Given the description of an element on the screen output the (x, y) to click on. 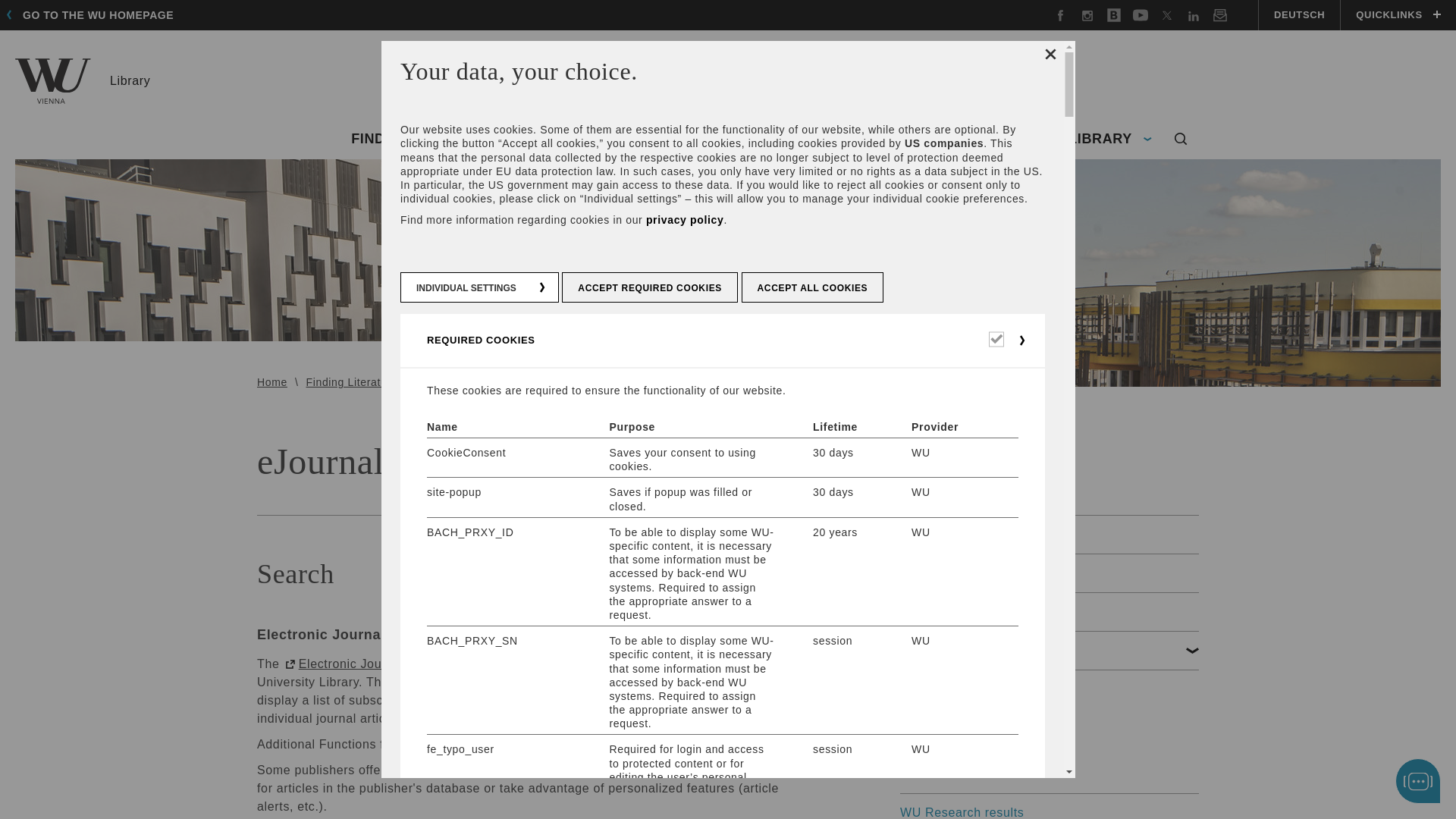
Library (81, 81)
FINDING LITERATURE (437, 140)
Search (1180, 140)
DEUTSCH (1298, 15)
GO TO THE WU HOMEPAGE (94, 15)
